Given the description of an element on the screen output the (x, y) to click on. 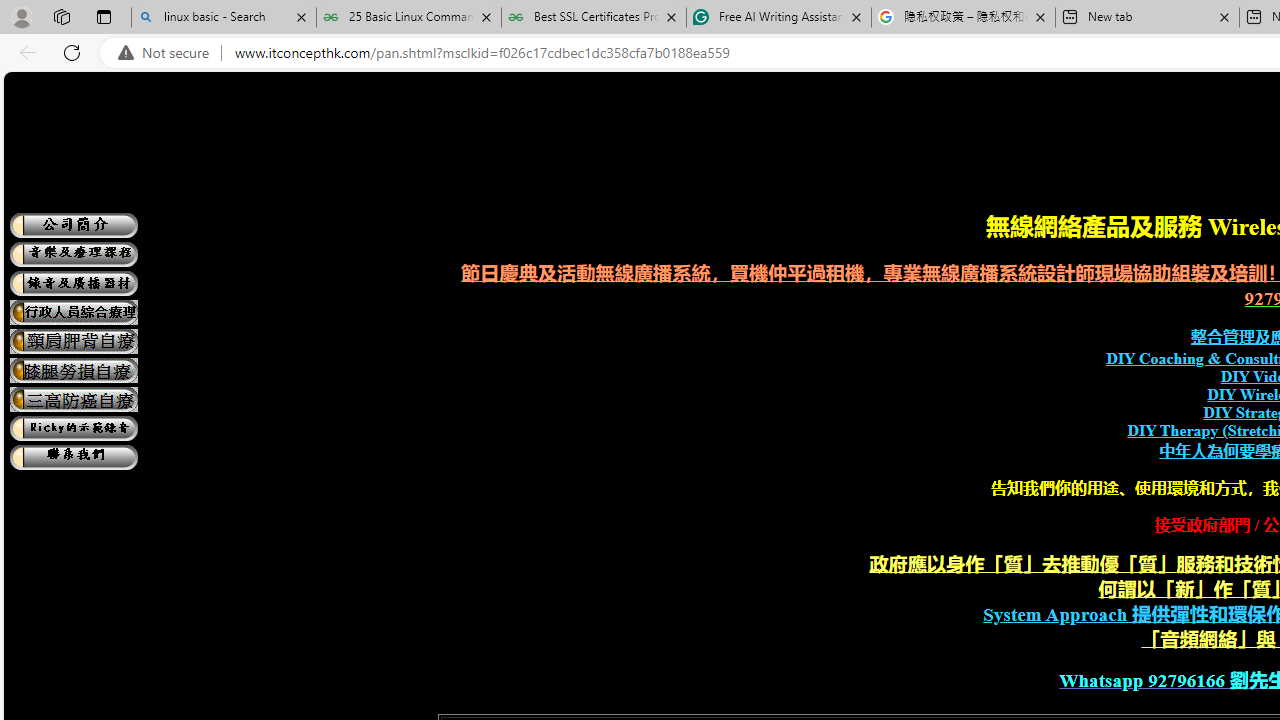
linux basic - Search (223, 17)
